Given the description of an element on the screen output the (x, y) to click on. 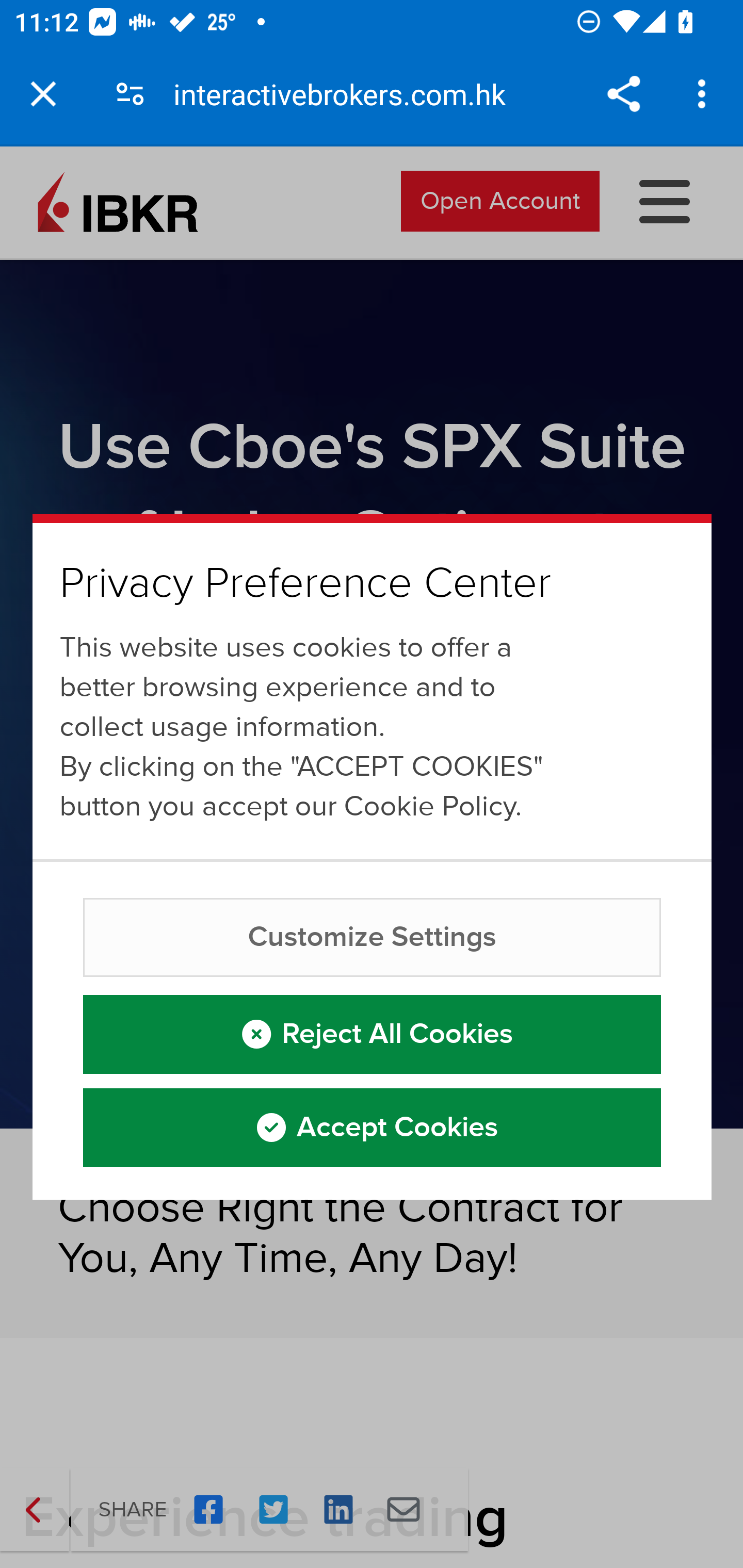
Customize Settings (372, 937)
 Reject All Cookies  Reject All Cookies (372, 1033)
 Accept Cookies  Accept Cookies (372, 1127)
